Given the description of an element on the screen output the (x, y) to click on. 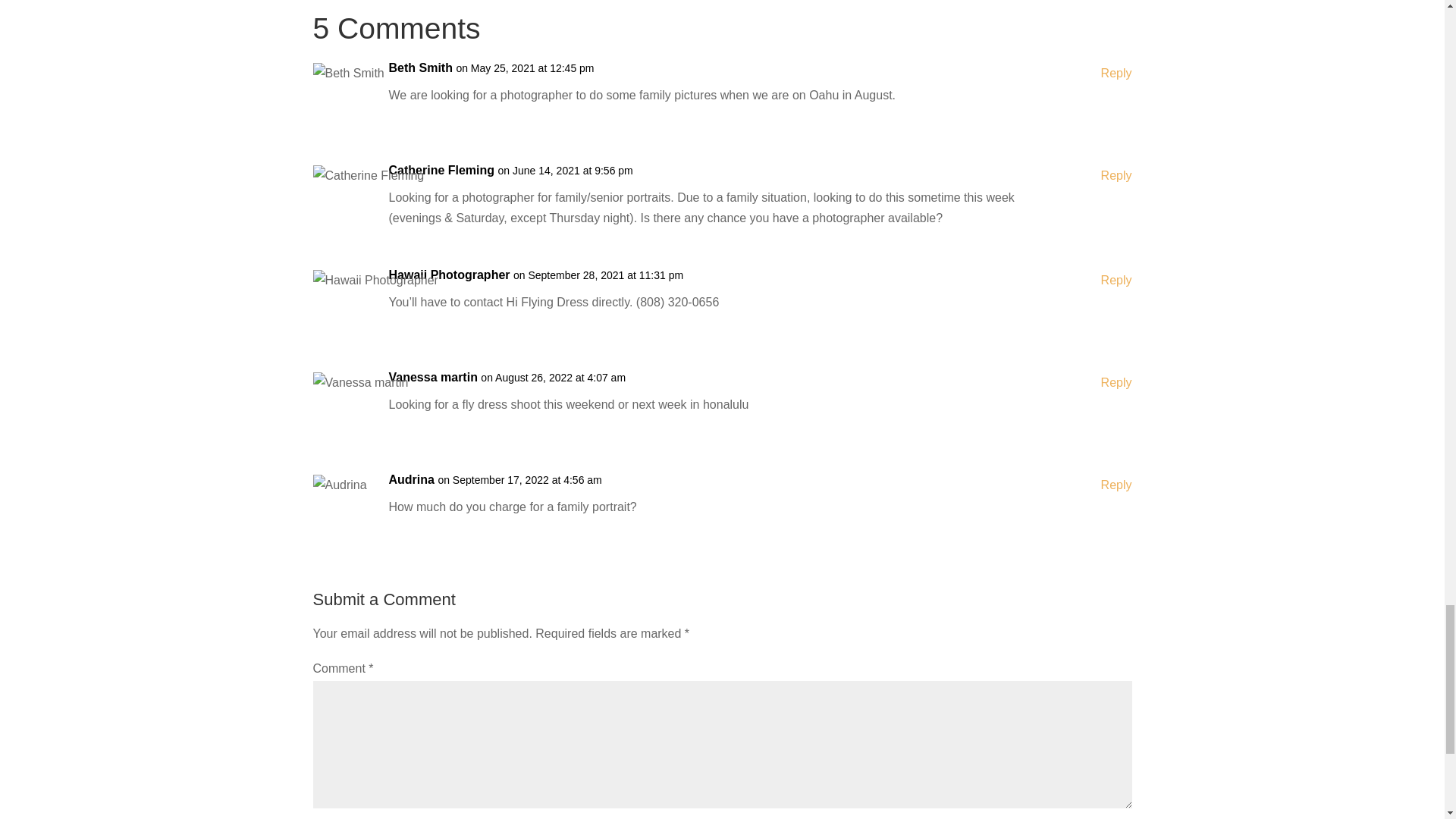
Reply (1116, 485)
Reply (1116, 382)
Reply (1116, 280)
Reply (1116, 175)
Reply (1116, 73)
Hawaii Photographer (448, 274)
